Given the description of an element on the screen output the (x, y) to click on. 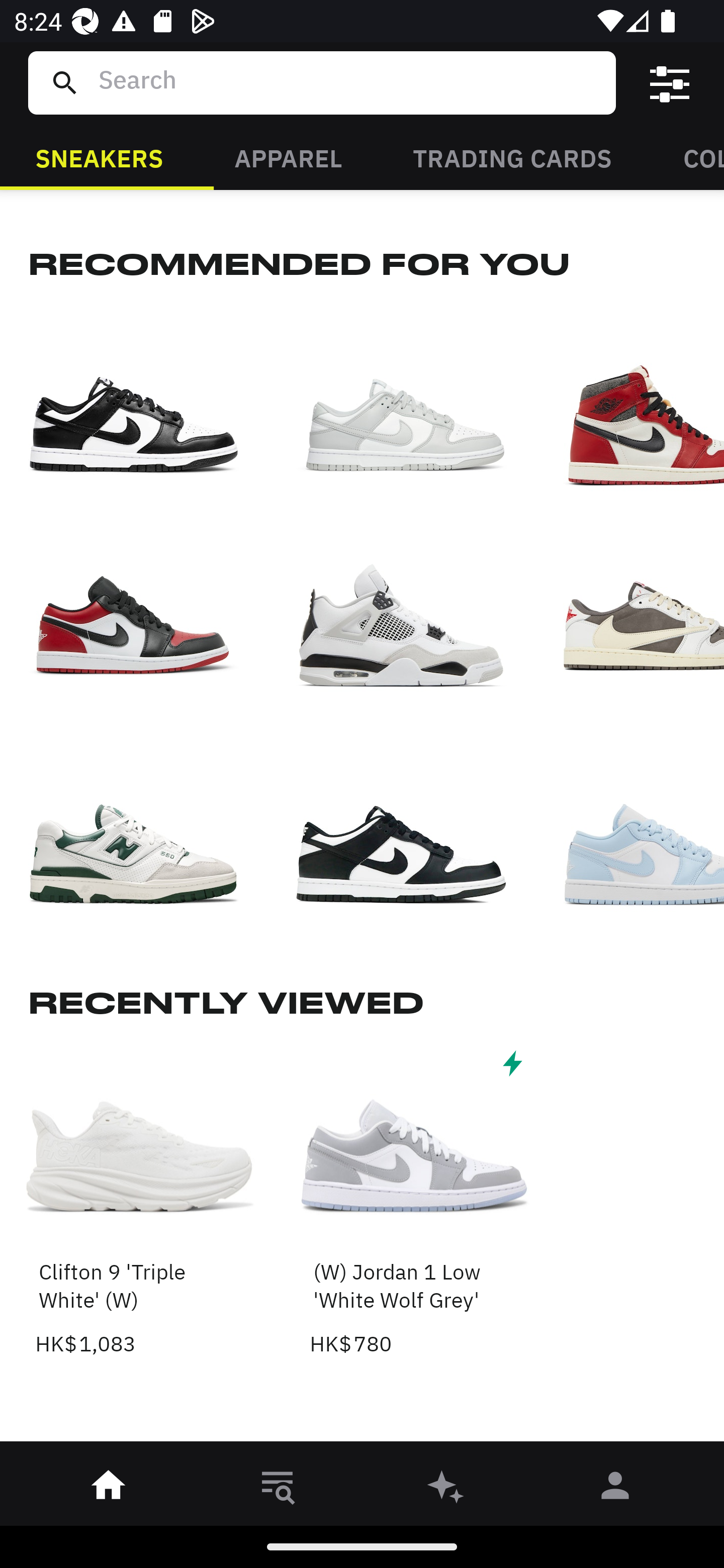
Search (349, 82)
 (669, 82)
SNEAKERS (99, 156)
APPAREL (287, 156)
TRADING CARDS (512, 156)
Clifton 9 'Triple White' (W) HK$ 1,083 (140, 1201)
 (W) Jordan 1 Low 'White Wolf Grey' HK$ 780 (414, 1201)
󰋜 (108, 1488)
󱎸 (277, 1488)
󰫢 (446, 1488)
󰀄 (615, 1488)
